Given the description of an element on the screen output the (x, y) to click on. 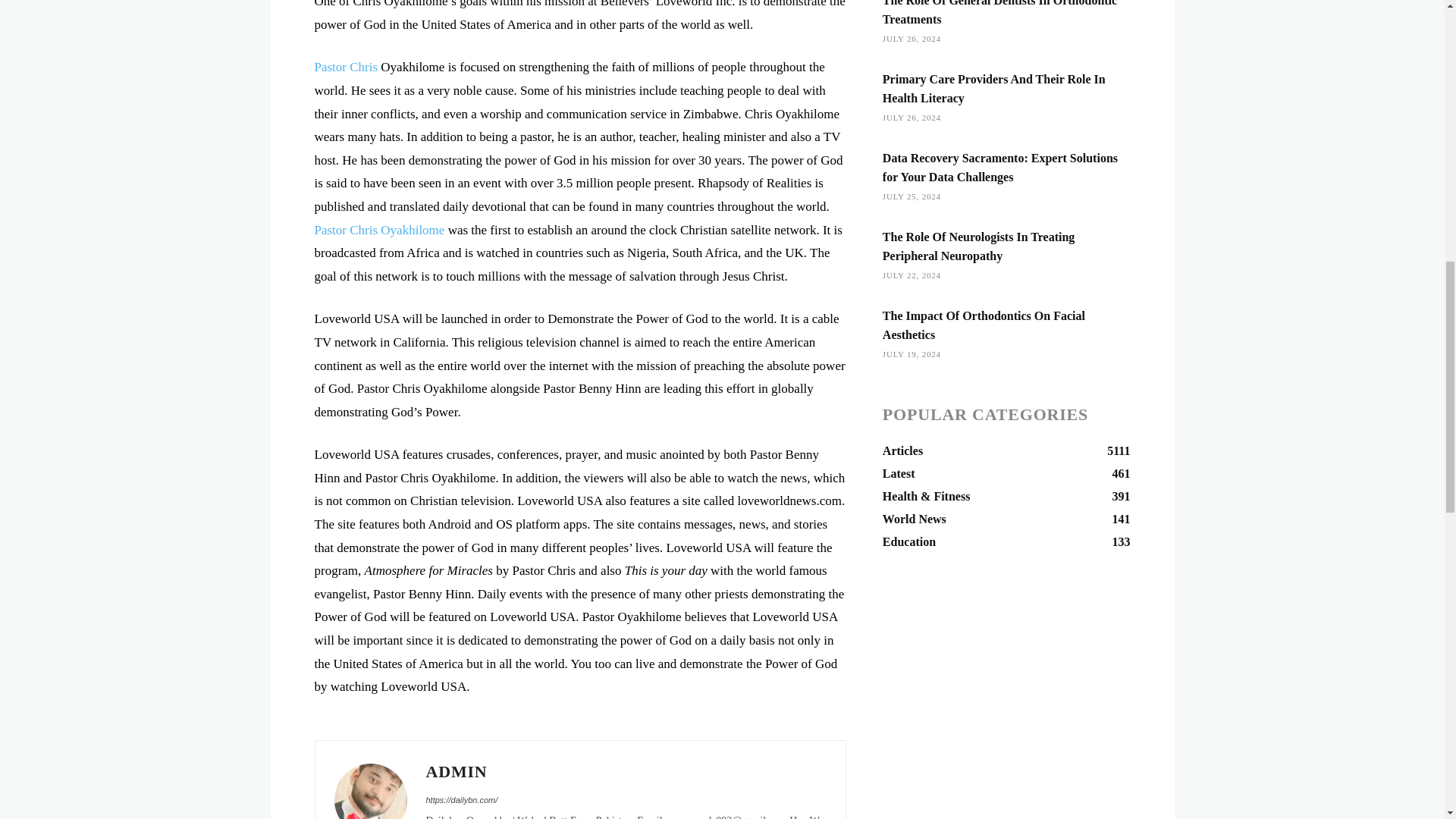
The Impact Of Orthodontics On Facial Aesthetics (983, 325)
Admin (369, 791)
ADMIN (626, 771)
Pastor Chris (345, 66)
The Role Of General Dentists In Orthodontic Treatments (999, 12)
Primary Care Providers And Their Role In Health Literacy (993, 88)
The Role Of Neurologists In Treating Peripheral Neuropathy (978, 246)
Pastor Chris Oyakhilome (379, 229)
The Role Of Neurologists In Treating Peripheral Neuropathy (978, 246)
The Role Of General Dentists In Orthodontic Treatments (999, 12)
Primary Care Providers And Their Role In Health Literacy (993, 88)
